Given the description of an element on the screen output the (x, y) to click on. 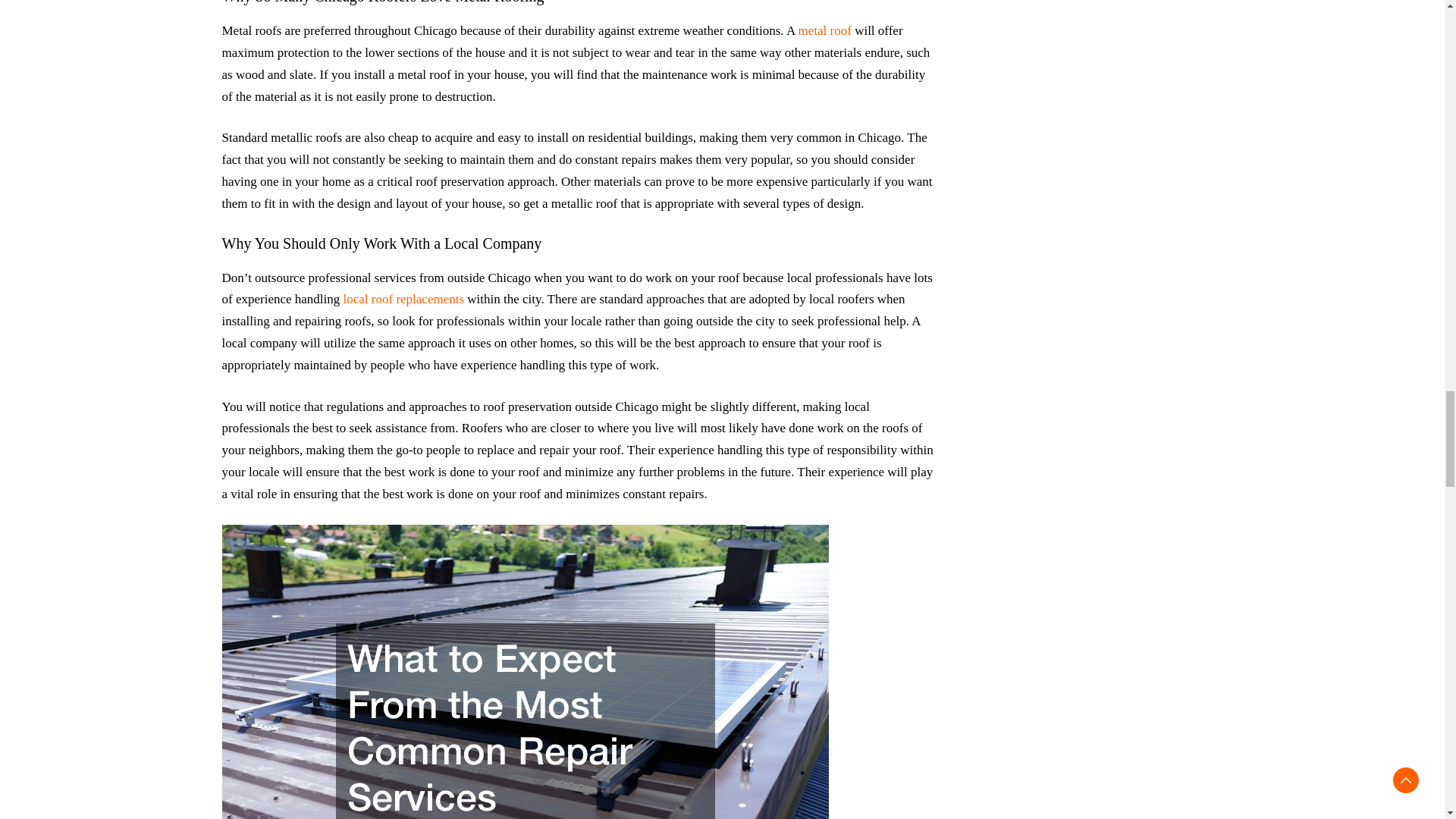
local roof replacements (403, 298)
metal roof (824, 30)
